Given the description of an element on the screen output the (x, y) to click on. 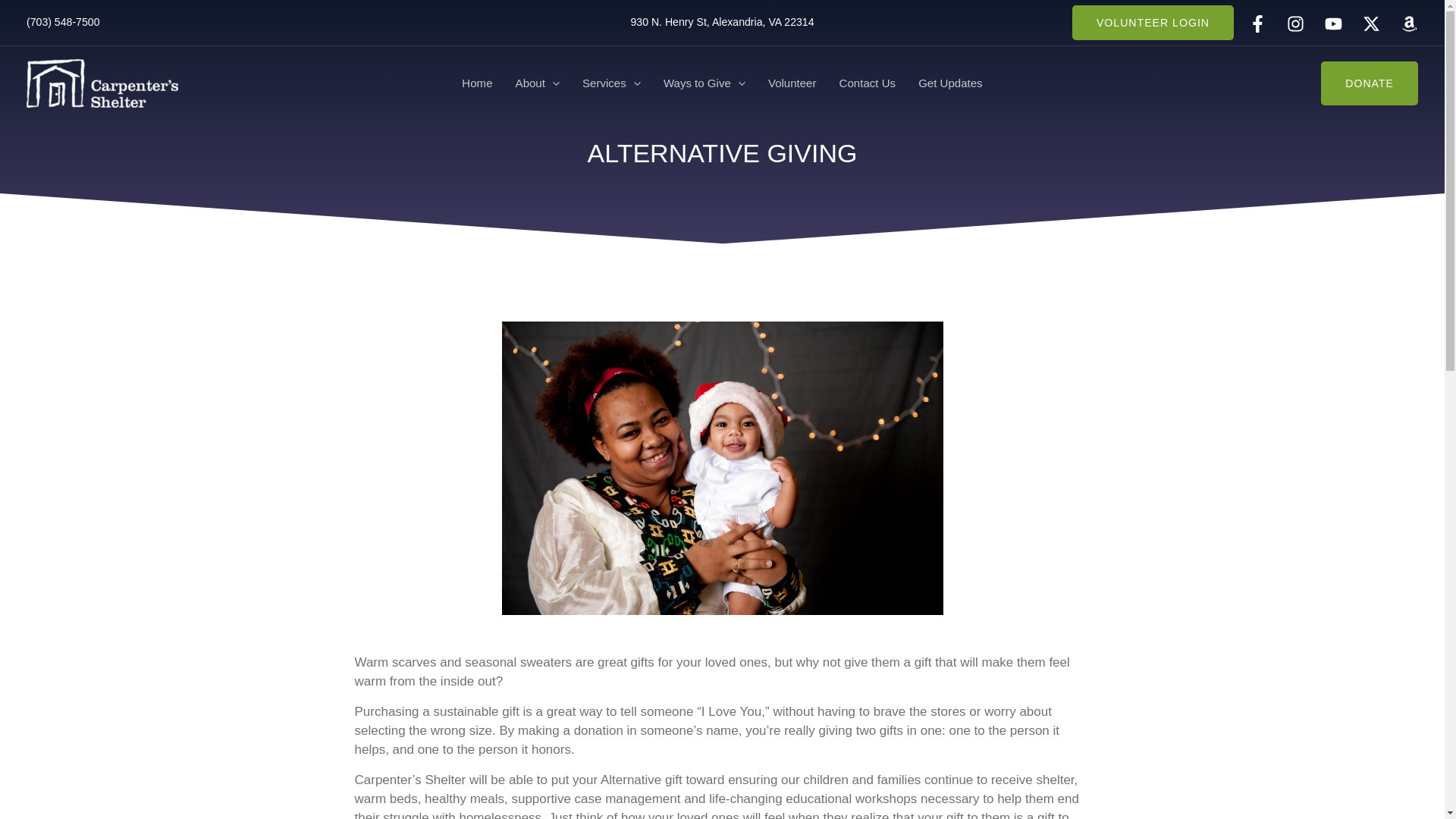
Ways to Give (704, 82)
930 N. Henry St, Alexandria, VA 22314 (721, 21)
Home (476, 82)
VOLUNTEER LOGIN (1152, 22)
About (536, 82)
Services (611, 82)
